Given the description of an element on the screen output the (x, y) to click on. 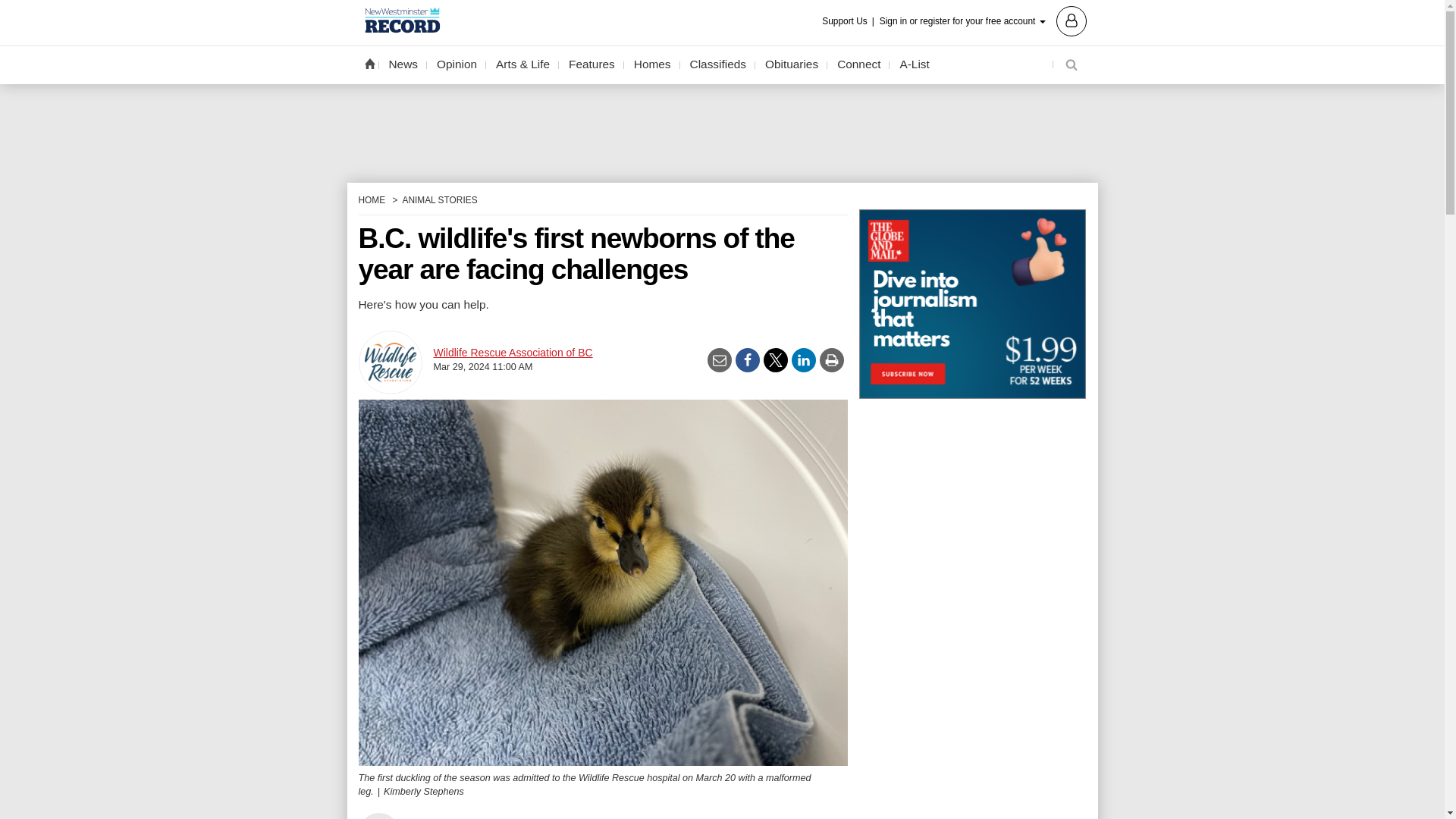
News (403, 64)
Support Us (849, 21)
Sign in or register for your free account (982, 20)
Opinion (456, 64)
Home (368, 63)
